Given the description of an element on the screen output the (x, y) to click on. 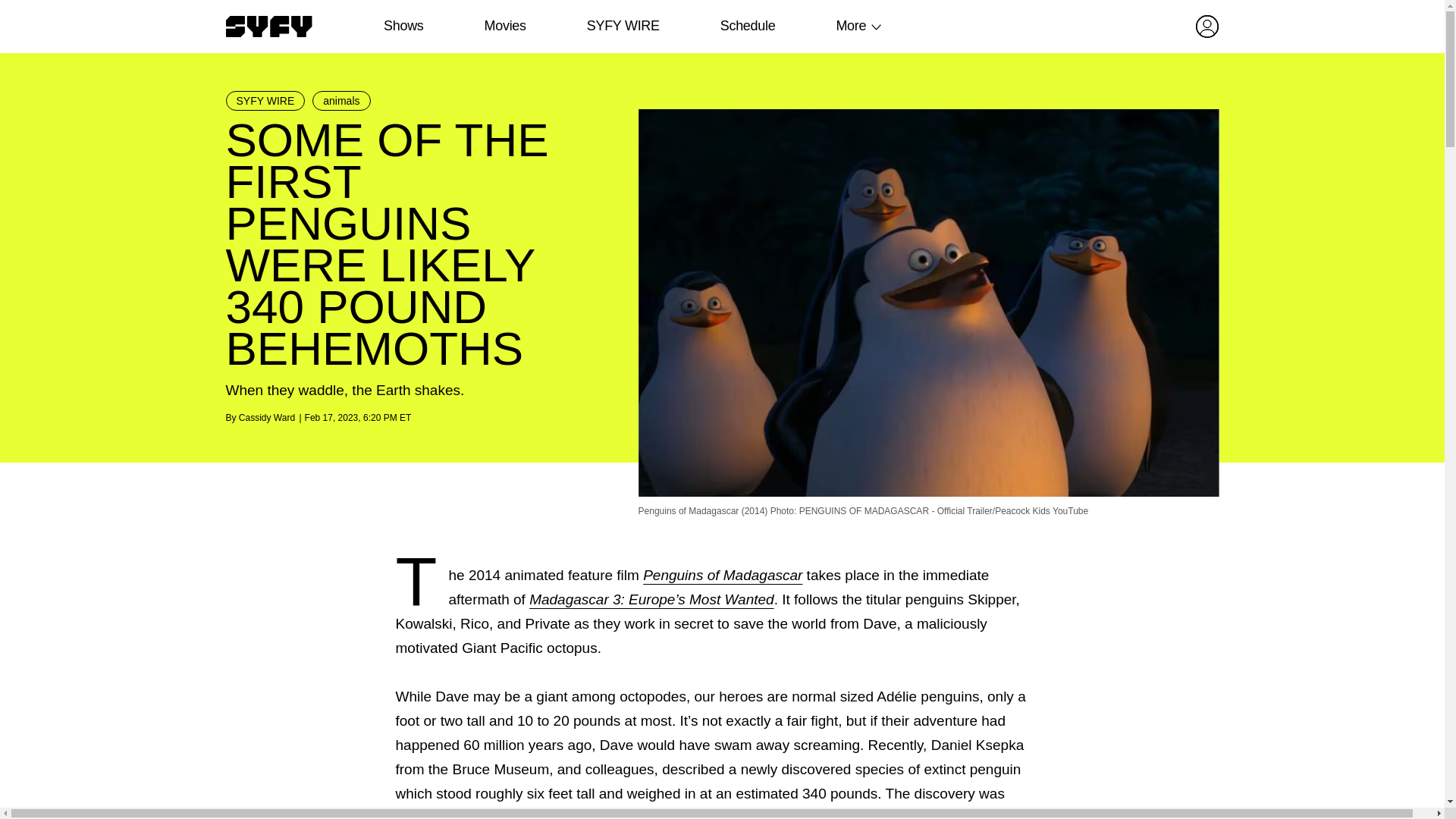
SYFY WIRE (622, 26)
published in the Journal of Paleontology (523, 814)
Cassidy Ward (266, 417)
SYFY WIRE (265, 100)
Movies (504, 26)
Shows (403, 26)
Schedule (746, 26)
More (850, 26)
Penguins of Madagascar (722, 575)
animals (341, 100)
